Given the description of an element on the screen output the (x, y) to click on. 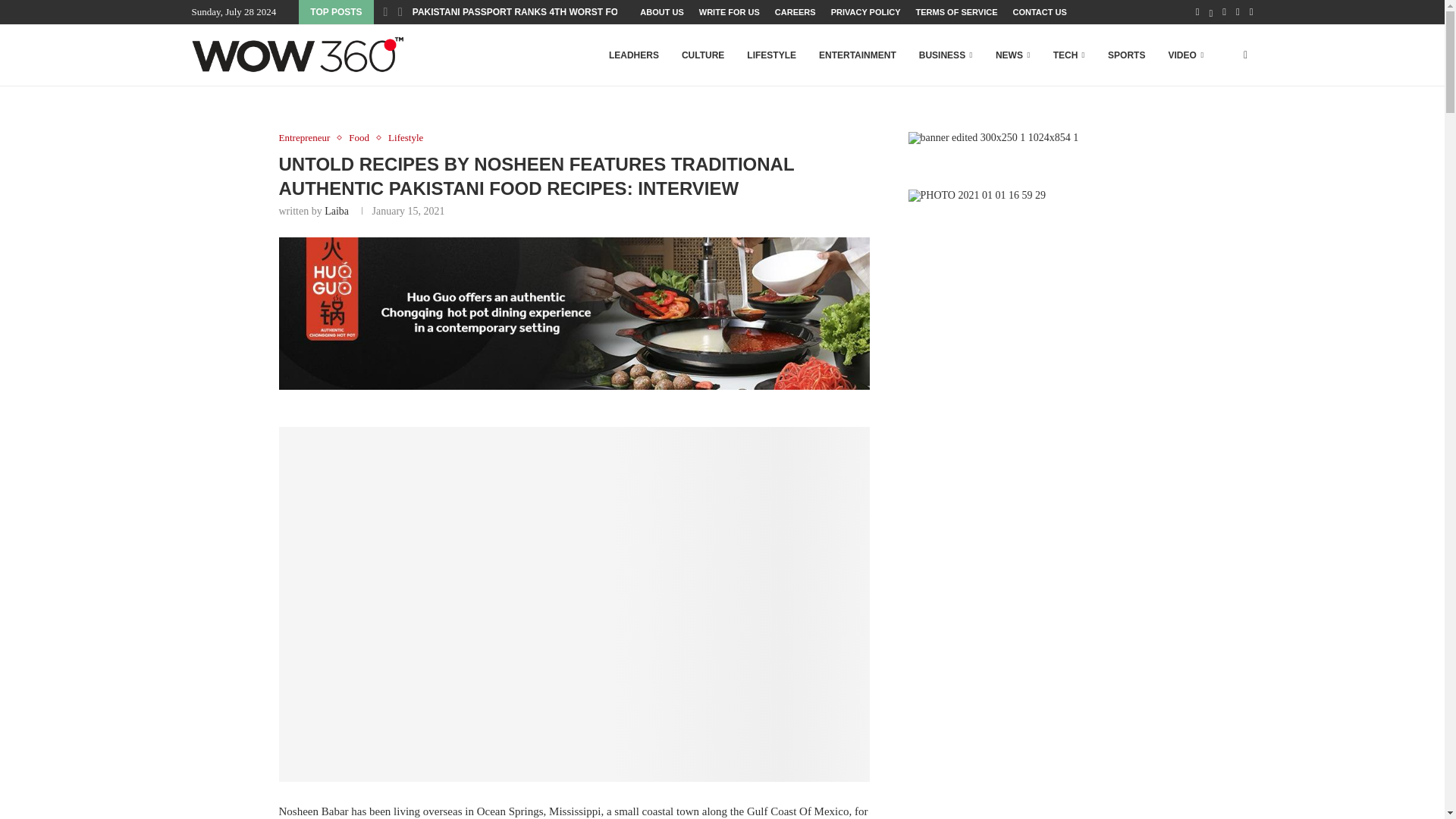
ENTERTAINMENT (857, 55)
LEADHERS (633, 55)
ABOUT US (661, 12)
TERMS OF SERVICE (956, 12)
PRIVACY POLICY (866, 12)
CAREERS (794, 12)
VIDEO (1185, 55)
SPORTS (1126, 55)
PAKISTANI PASSPORT RANKS 4TH WORST FOR FOURTH CONSECUTIVE... (576, 12)
WRITE FOR US (729, 12)
NEWS (1012, 55)
Entrepreneur (308, 137)
TECH (1068, 55)
CONTACT US (1040, 12)
